Given the description of an element on the screen output the (x, y) to click on. 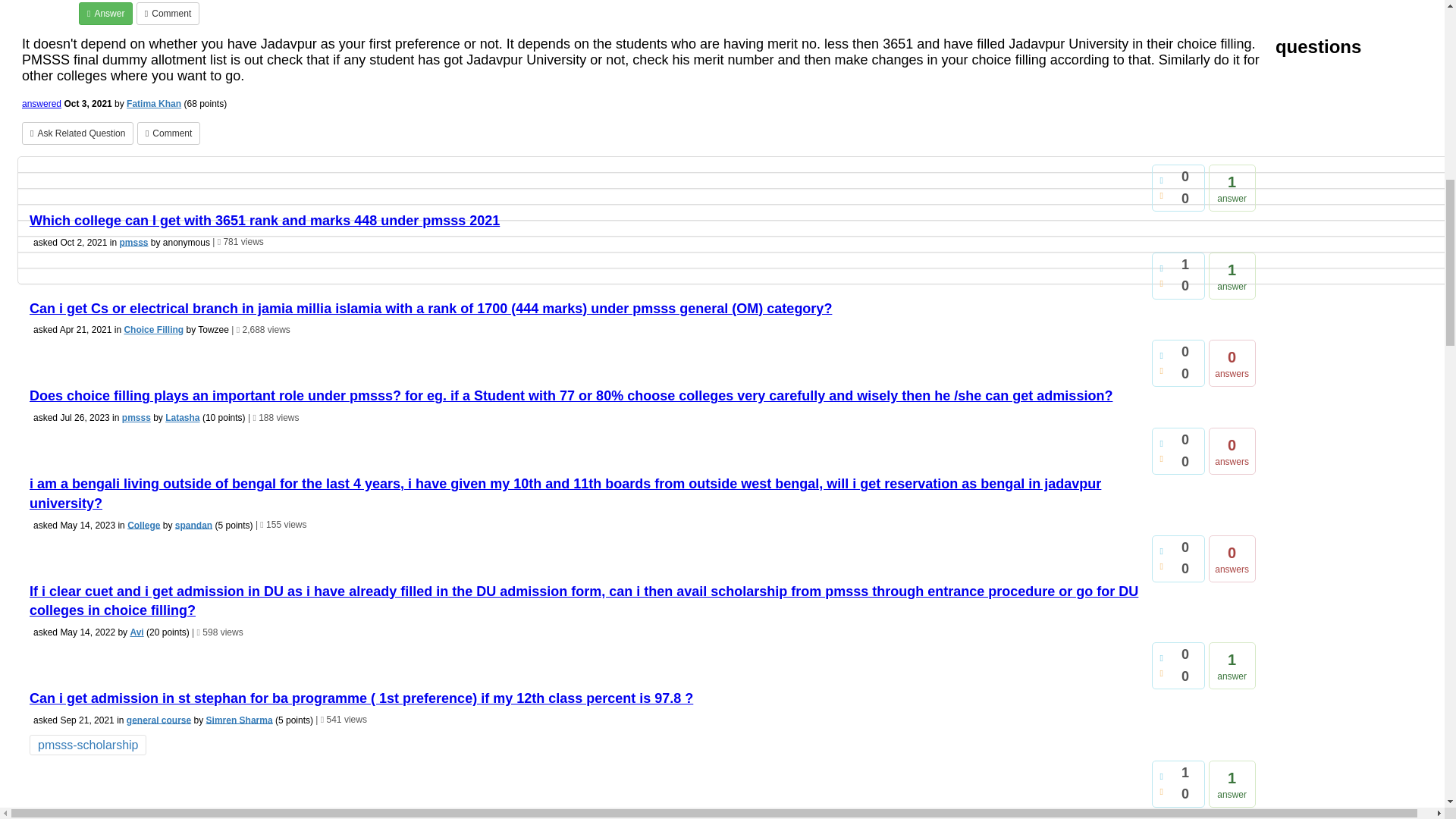
Add a comment on this question (167, 13)
Ask a new question relating to this answer (77, 133)
Answer (105, 13)
Add a comment on this answer (168, 133)
Answer this question (105, 13)
Comment (167, 13)
